Given the description of an element on the screen output the (x, y) to click on. 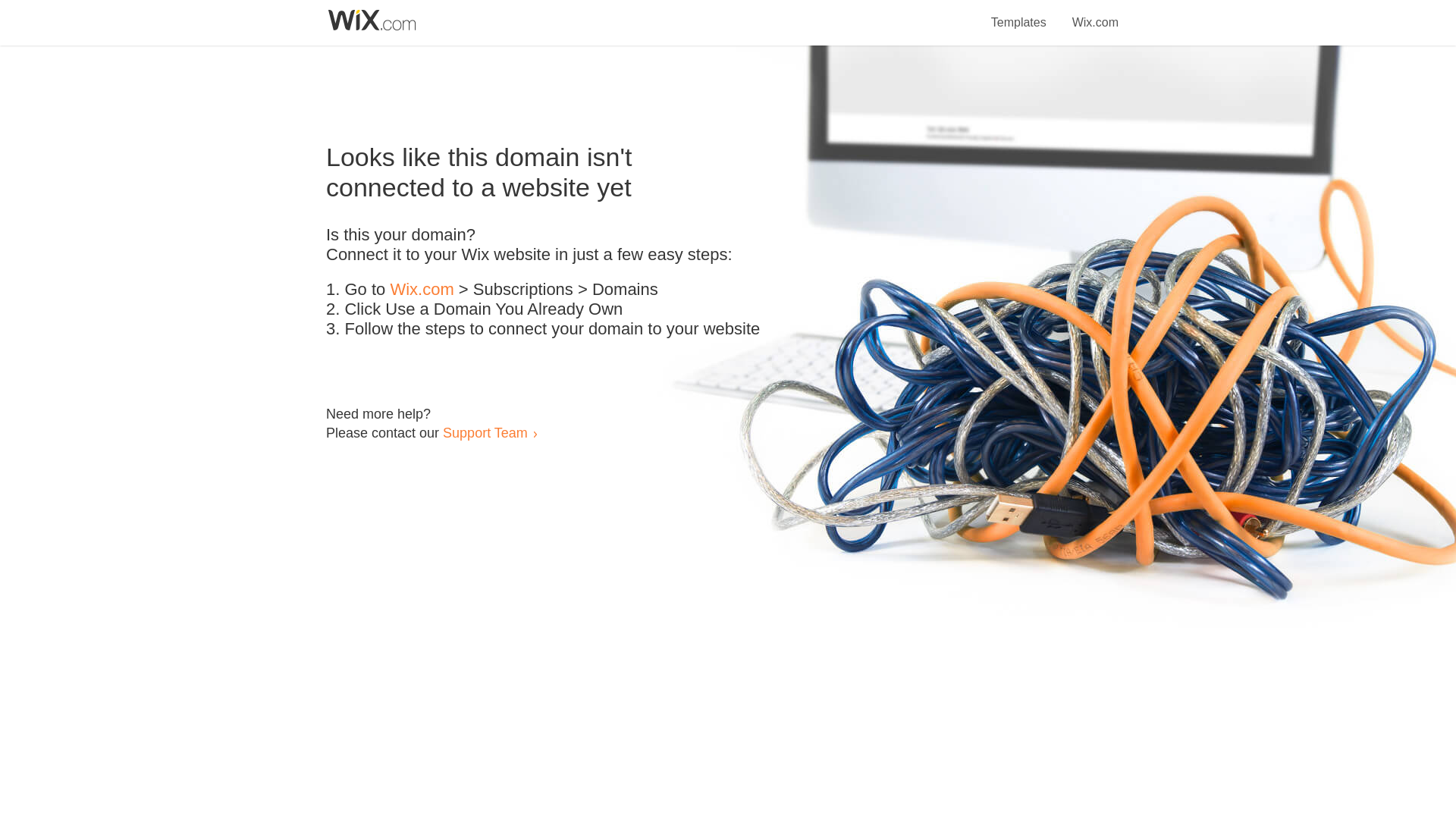
Wix.com (421, 289)
Templates (1018, 14)
Wix.com (1095, 14)
Support Team (484, 432)
